Given the description of an element on the screen output the (x, y) to click on. 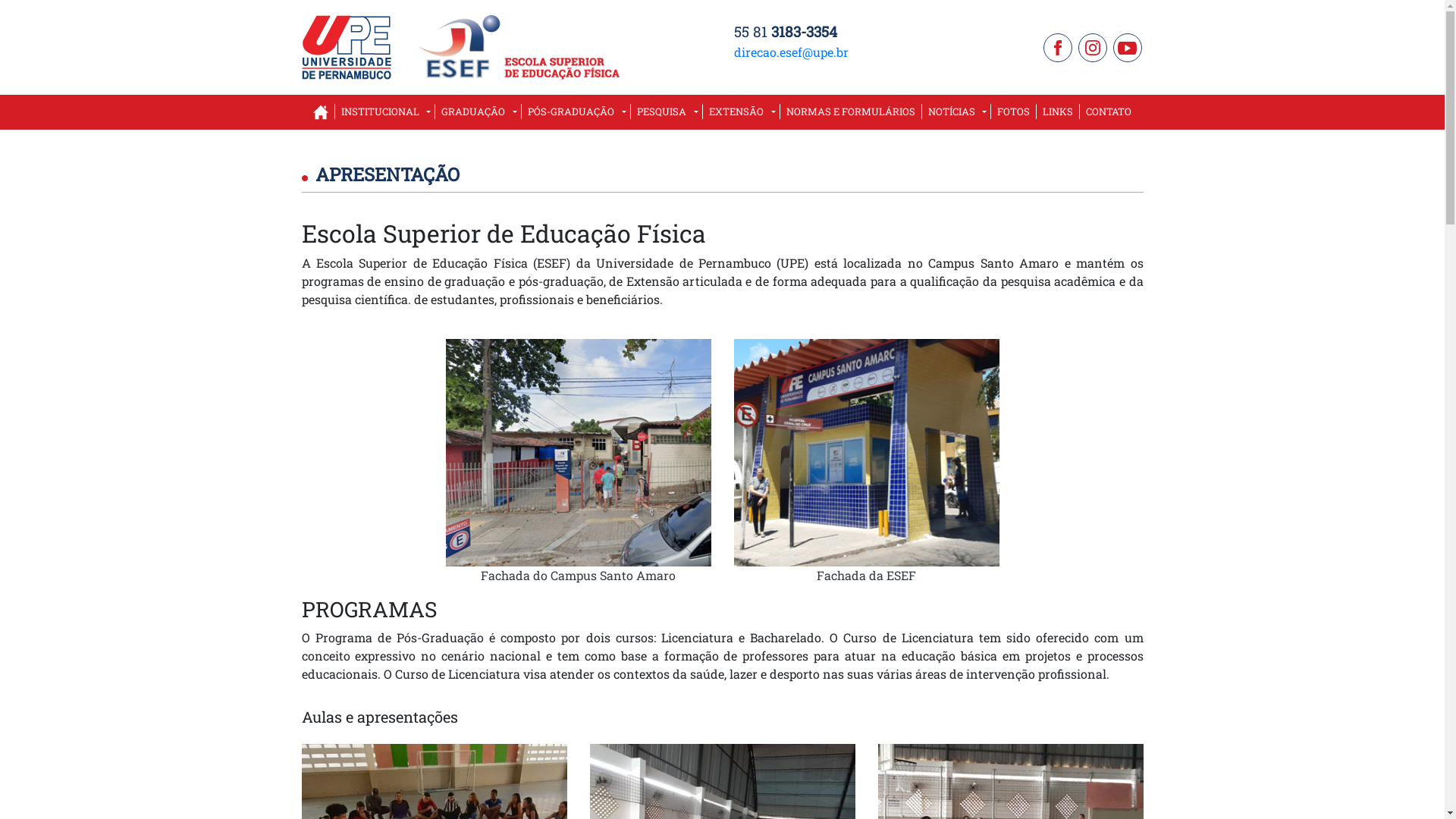
Fachada do Campus Santo Amaro Element type: text (578, 514)
LINKS Element type: text (1057, 111)
Fachada da ESEF Element type: text (866, 514)
PESQUISA Element type: text (666, 111)
direcao.esef@upe.br Element type: text (791, 51)
FOTOS Element type: text (1013, 111)
INSTITUCIONAL Element type: text (385, 111)
CONTATO Element type: text (1108, 111)
